Given the description of an element on the screen output the (x, y) to click on. 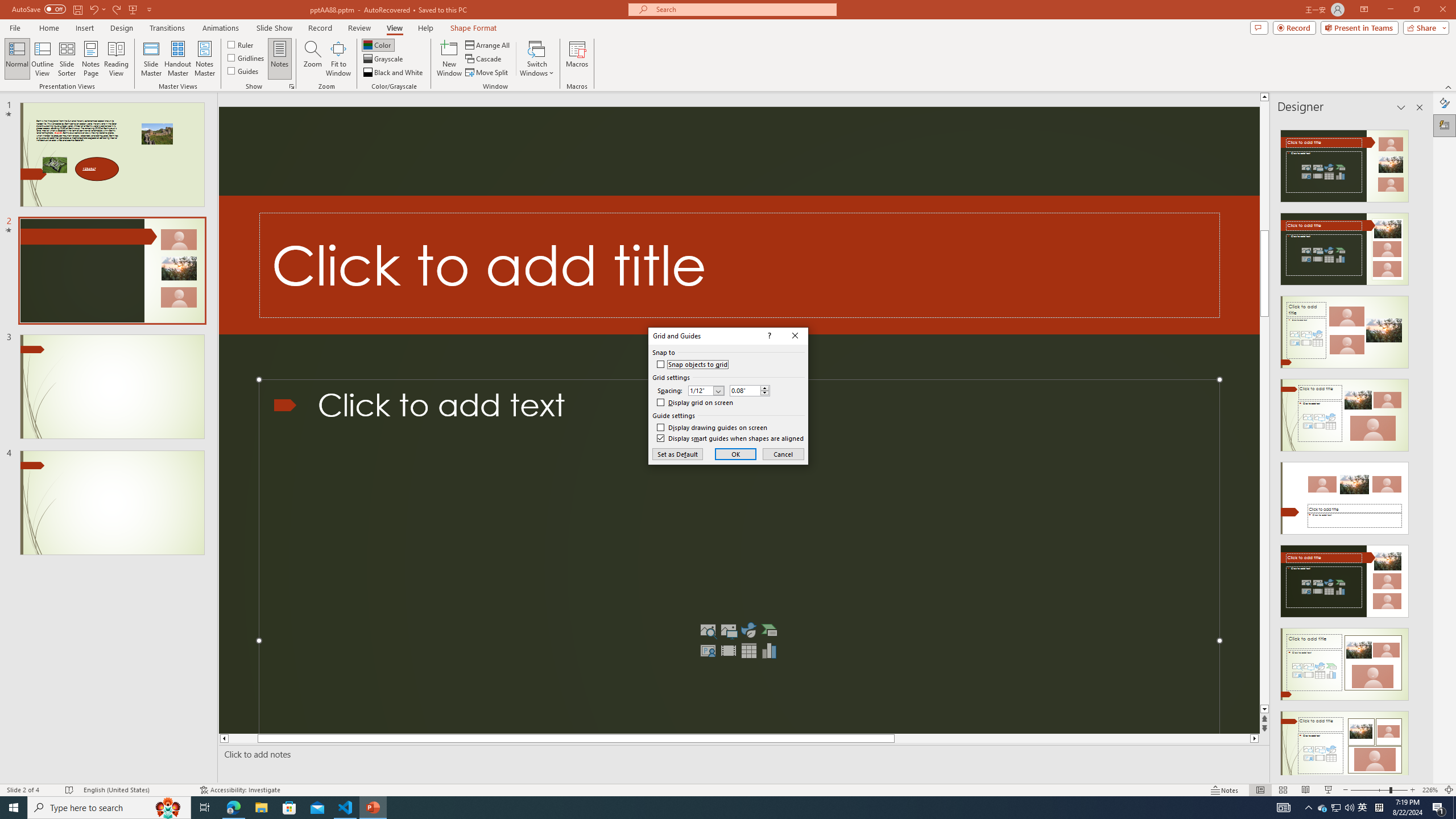
Insert Video (728, 650)
Pictures (728, 629)
Cascade (484, 58)
Ruler (241, 44)
Title TextBox (739, 264)
Less (765, 392)
OK (735, 453)
